Given the description of an element on the screen output the (x, y) to click on. 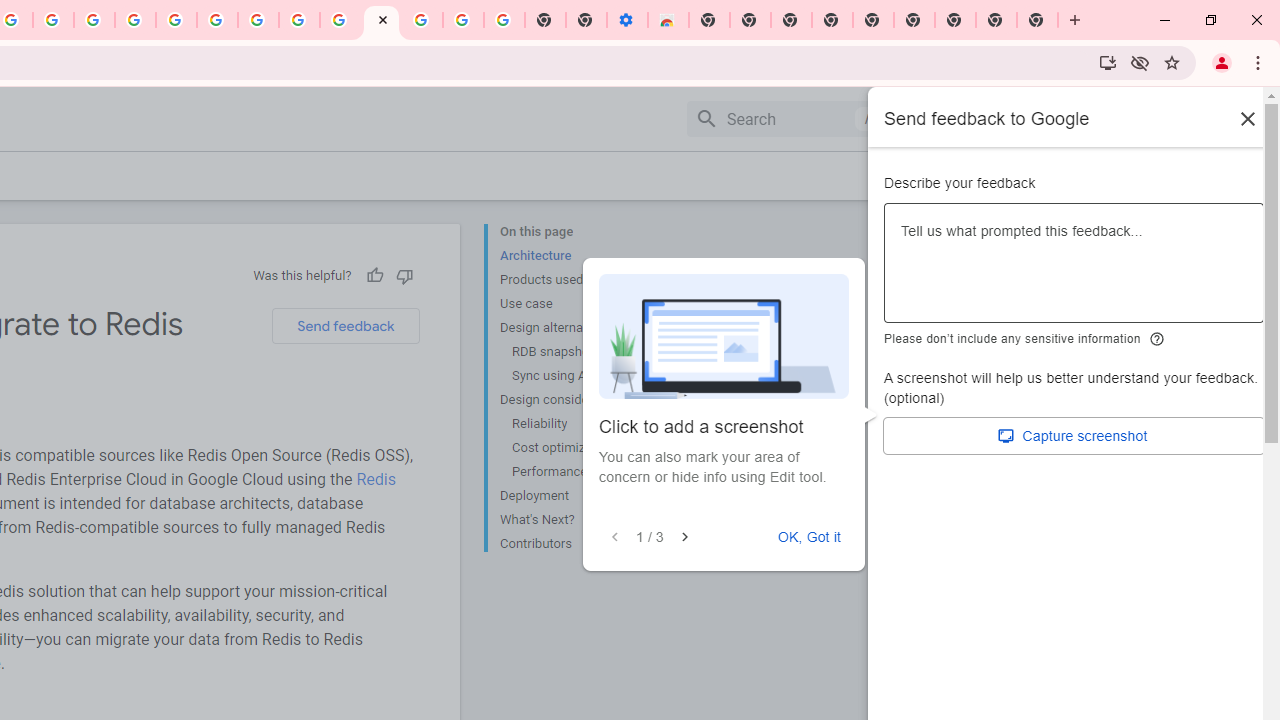
Send feedback (345, 326)
RDB snapshots (585, 351)
Previous (614, 537)
Start free (1182, 175)
Capture screenshot (1074, 436)
Chrome Web Store - Accessibility extensions (667, 20)
Use case (580, 304)
Reliability (585, 423)
Helpful (374, 275)
Create your Google Account (299, 20)
Products used (580, 279)
New Tab (955, 20)
